Given the description of an element on the screen output the (x, y) to click on. 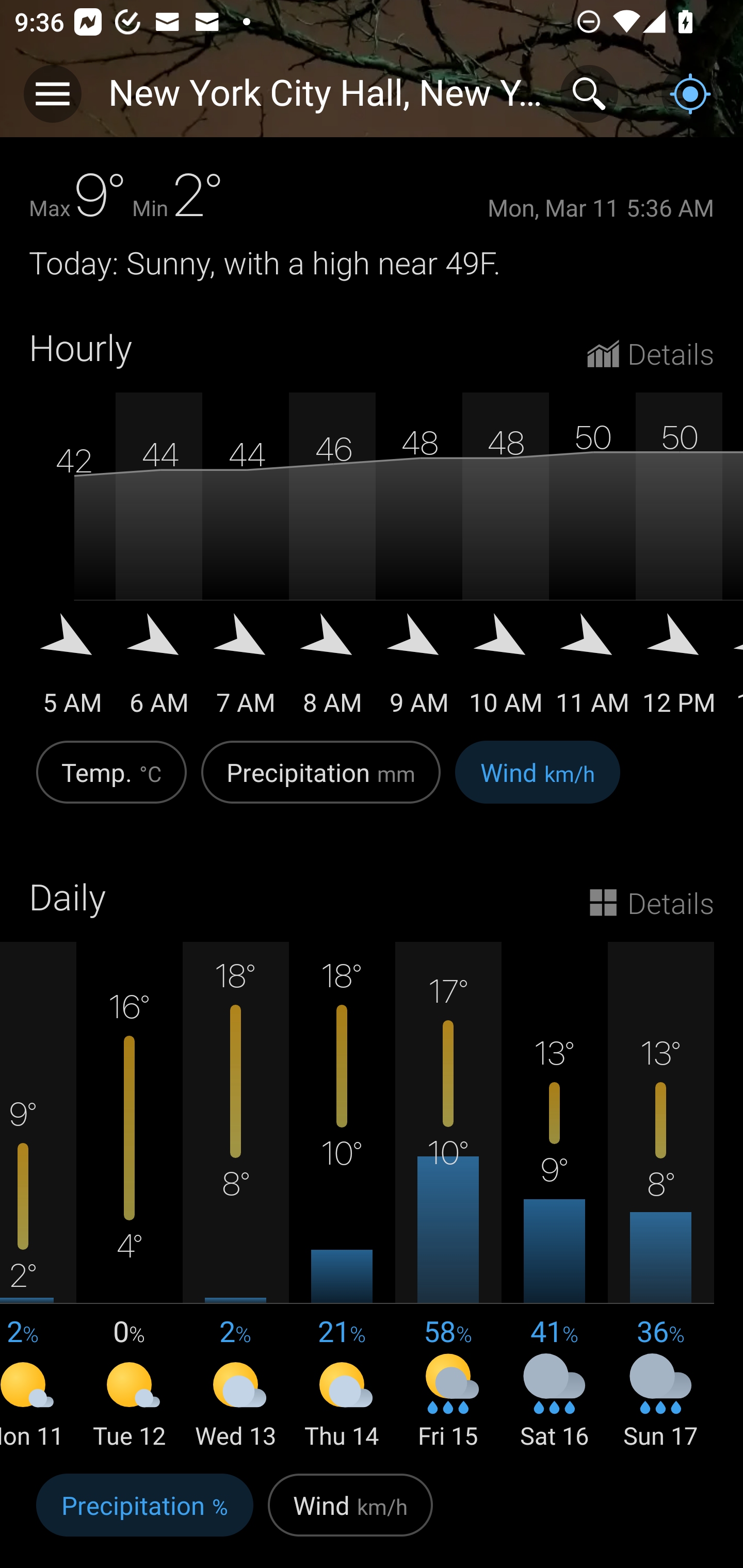
 5 AM (71, 670)
 6 AM (158, 670)
 7 AM (245, 670)
 8 AM (332, 670)
 9 AM (418, 670)
 10 AM (505, 670)
 11 AM (592, 670)
 12 PM (679, 670)
Temp. °C (110, 782)
Precipitation mm (320, 782)
Wind km/h (537, 782)
9° 2° 2 % Mon 11 (38, 1196)
16° 4° 0 % Tue 12 (129, 1196)
18° 8° 2 % Wed 13 (235, 1196)
18° 10° 21 % Thu 14 (342, 1196)
17° 10° 58 % Fri 15 (448, 1196)
13° 9° 41 % Sat 16 (554, 1196)
13° 8° 36 % Sun 17 (660, 1196)
Precipitation % (144, 1515)
Wind km/h (349, 1515)
